Given the description of an element on the screen output the (x, y) to click on. 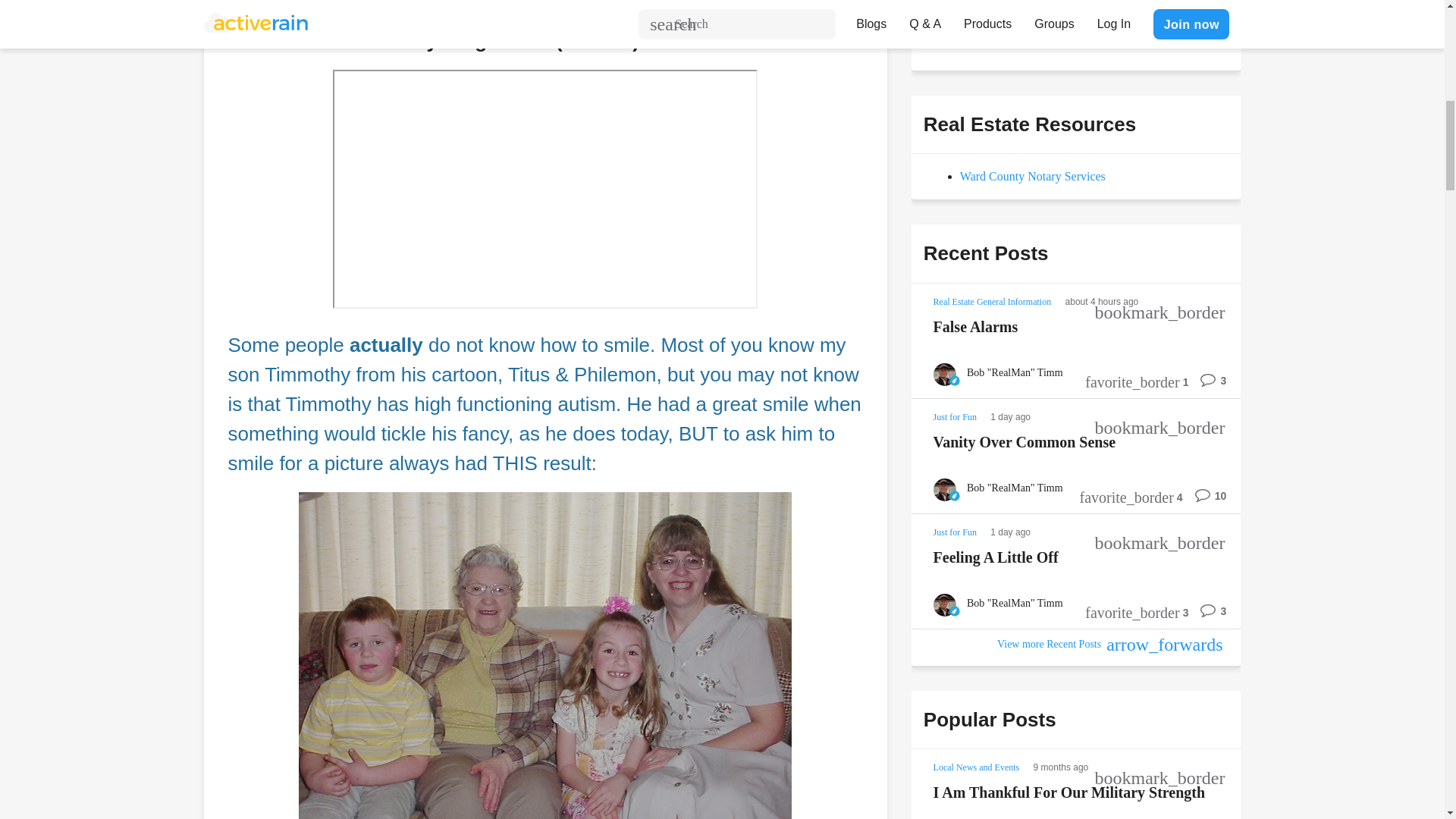
Ward County Notary Services (1032, 175)
YouTube video player (545, 188)
Send Message (978, 30)
